Given the description of an element on the screen output the (x, y) to click on. 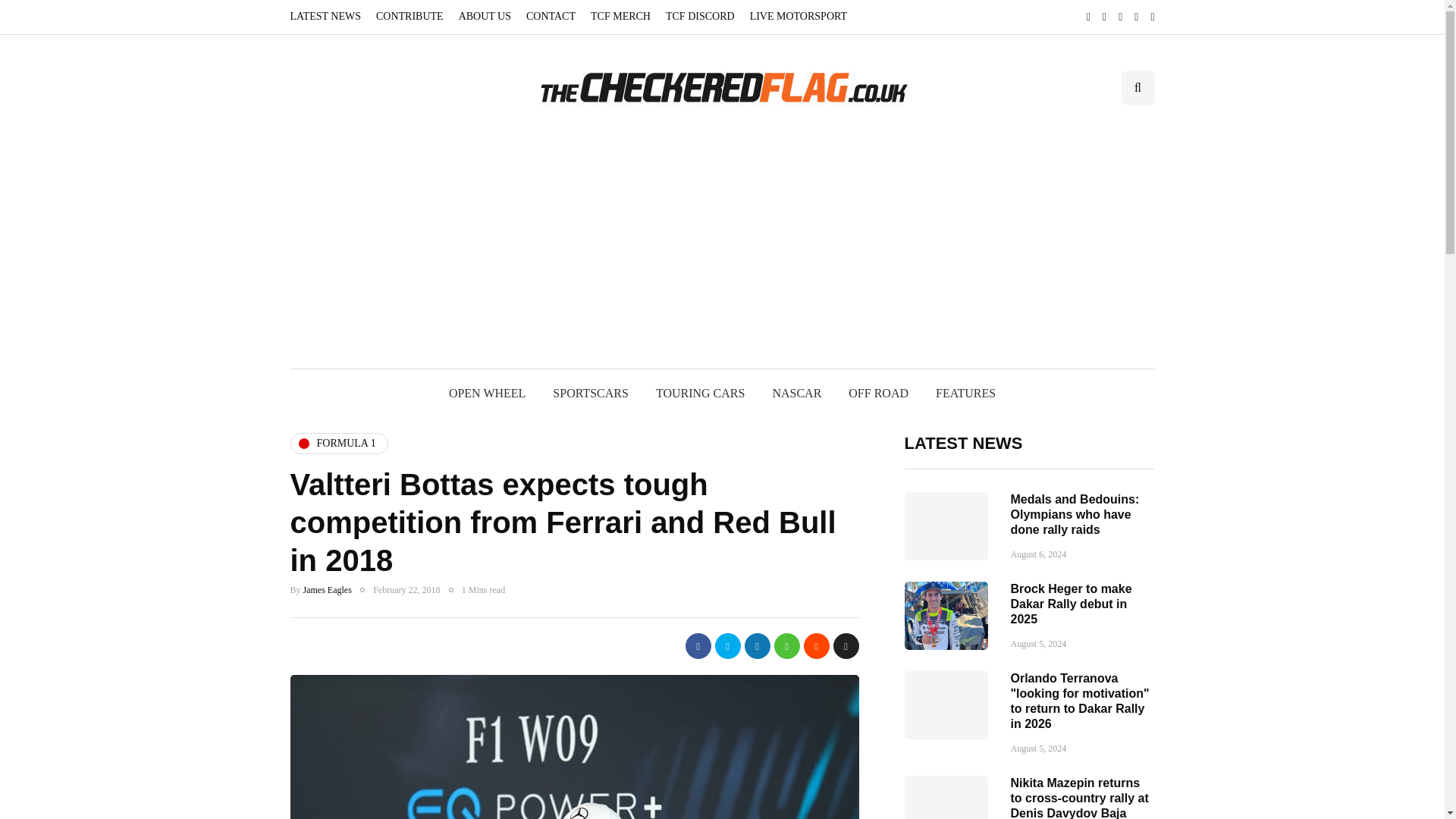
CONTACT (550, 17)
Share by Email (845, 646)
OFF ROAD (877, 392)
TOURING CARS (700, 392)
Share to WhatsApp (786, 646)
CONTRIBUTE (409, 17)
OPEN WHEEL (486, 392)
Posts by James Eagles (327, 588)
ABOUT US (484, 17)
LATEST NEWS (328, 17)
TCF MERCH (620, 17)
SPORTSCARS (590, 392)
TCF DISCORD (700, 17)
Share with LinkedIn (757, 646)
Share on Reddit (816, 646)
